Given the description of an element on the screen output the (x, y) to click on. 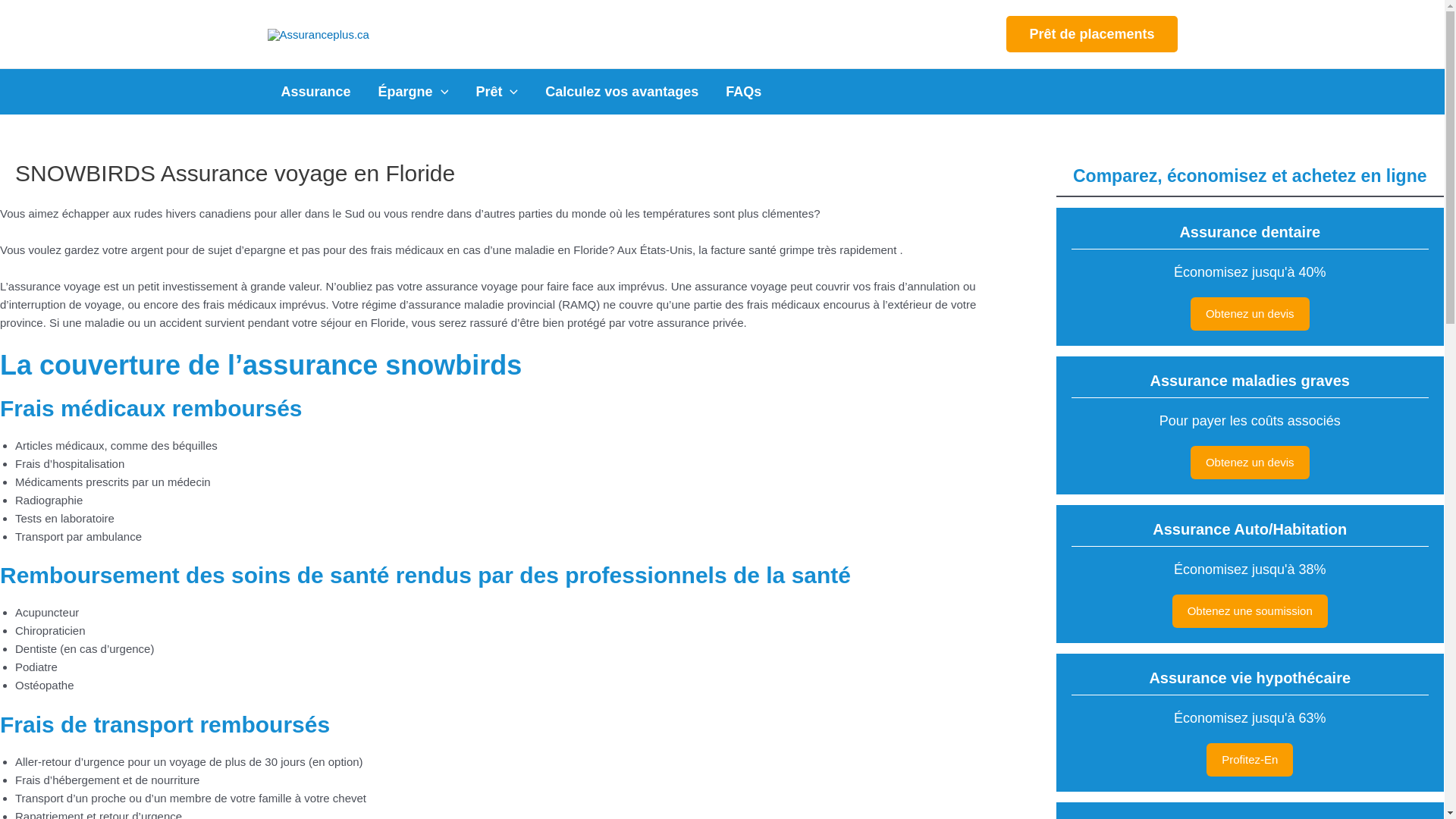
Calculez vos avantages Element type: text (621, 91)
Obtenez un devis Element type: text (1249, 462)
Obtenez une soumission Element type: text (1249, 610)
Profitez-En Element type: text (1249, 759)
FAQs Element type: text (743, 91)
Obtenez un devis Element type: text (1249, 313)
Assurance Element type: text (315, 91)
